Given the description of an element on the screen output the (x, y) to click on. 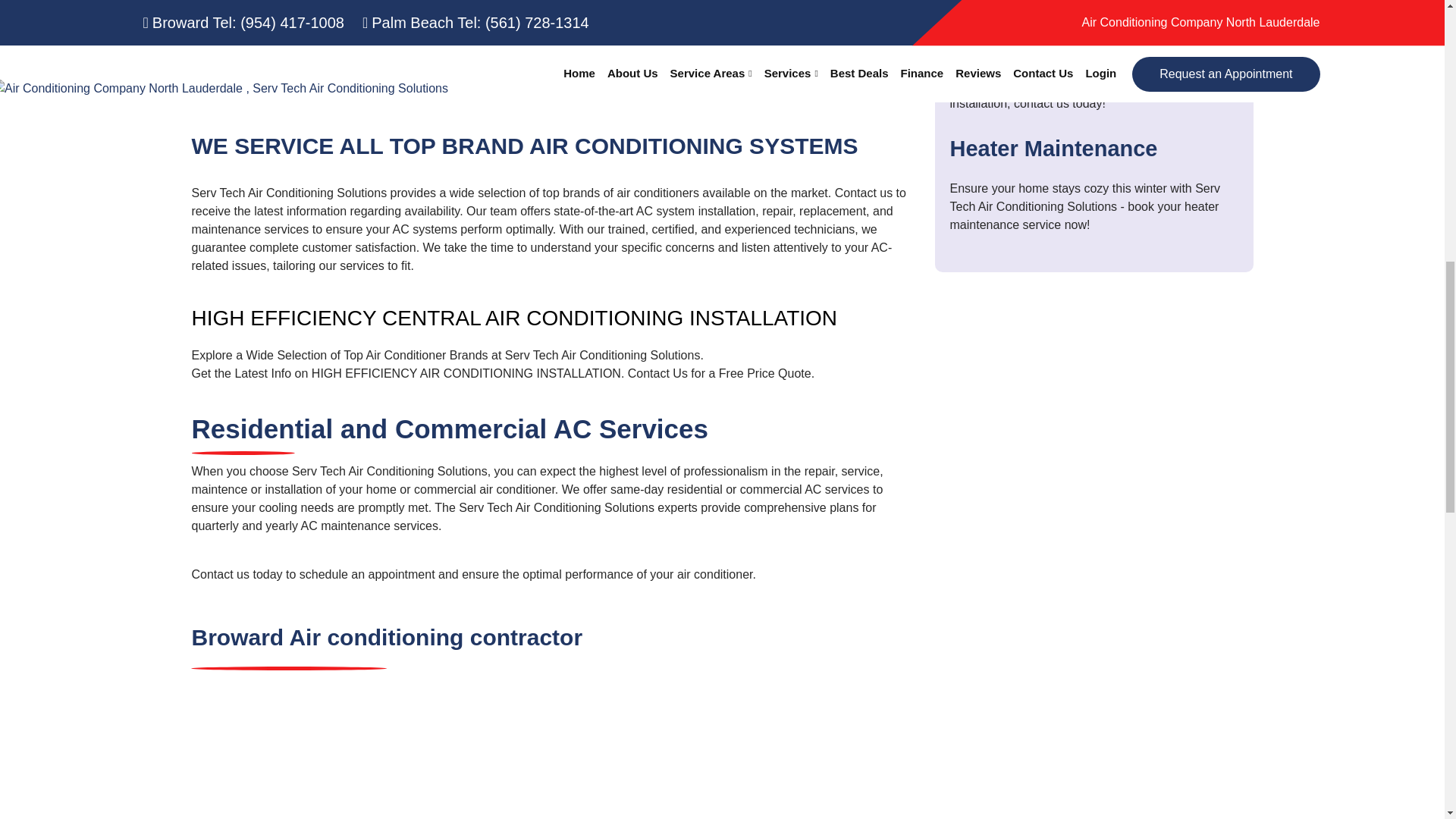
Heater Maintenance (1053, 148)
Heater Installation (1044, 27)
